Given the description of an element on the screen output the (x, y) to click on. 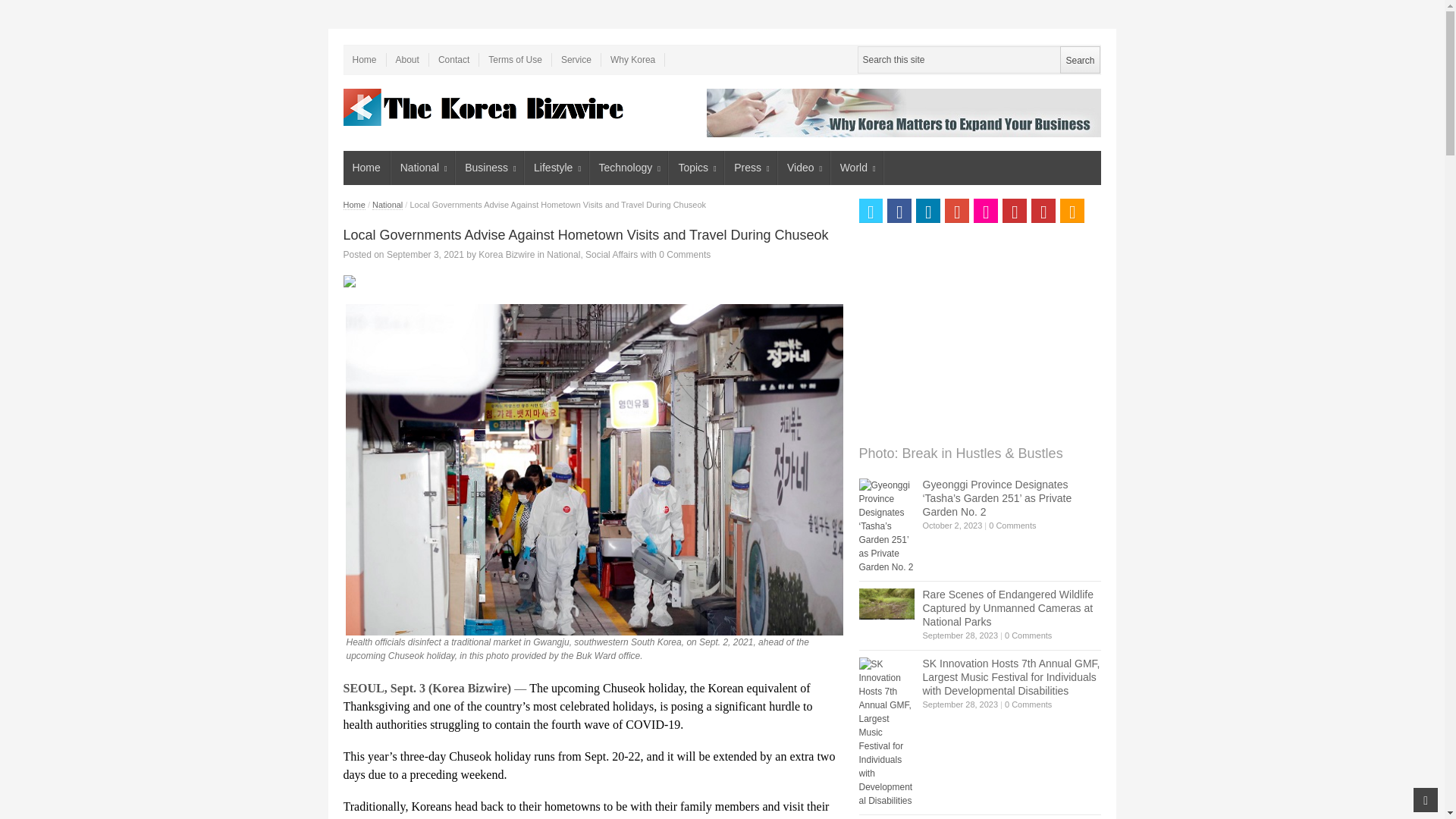
Search (1079, 59)
Business (489, 167)
Home (366, 167)
Search (1079, 59)
National (422, 167)
Home (363, 59)
Service (576, 59)
Contact (454, 59)
Print page (592, 281)
View all posts by Korea Bizwire (506, 254)
View all posts in National (563, 254)
4:42 am (425, 254)
Why Korea (633, 59)
Search this site (978, 59)
About (408, 59)
